Given the description of an element on the screen output the (x, y) to click on. 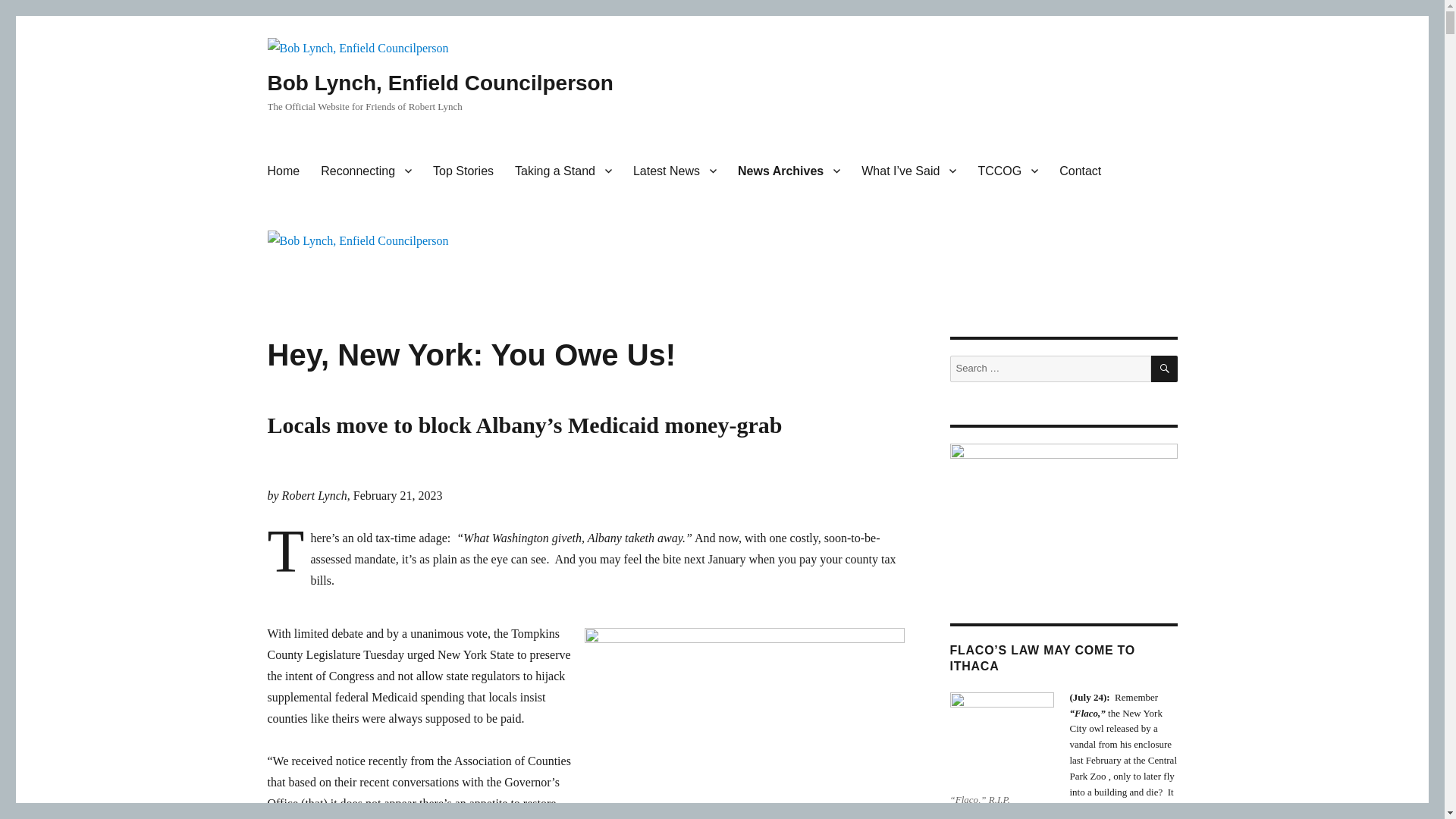
Reconnecting (366, 170)
Bob Lynch, Enfield Councilperson (439, 83)
Taking a Stand (563, 170)
Top Stories (462, 170)
Home (283, 170)
Latest News (674, 170)
